Given the description of an element on the screen output the (x, y) to click on. 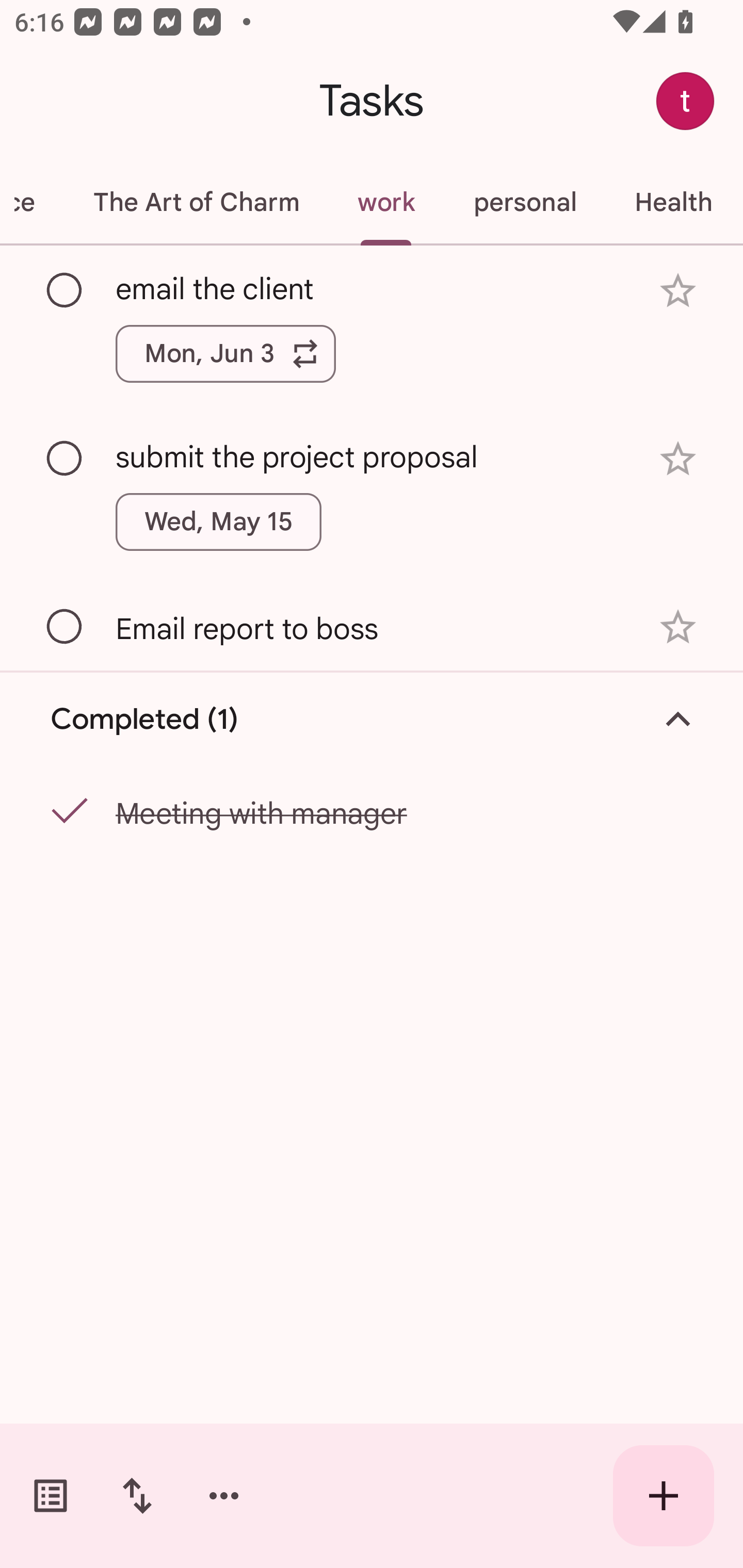
The Art of Charm (195, 202)
personal (524, 202)
Health (673, 202)
Add star (677, 290)
Mark as complete (64, 290)
Mon, Jun 3 (225, 353)
Add star (677, 458)
Mark as complete (64, 459)
Wed, May 15 (218, 522)
Add star (677, 627)
Mark as complete (64, 627)
Completed (1) (371, 719)
Mark as not complete (64, 812)
Switch task lists (50, 1495)
Create new task (663, 1495)
Change sort order (136, 1495)
More options (223, 1495)
